Given the description of an element on the screen output the (x, y) to click on. 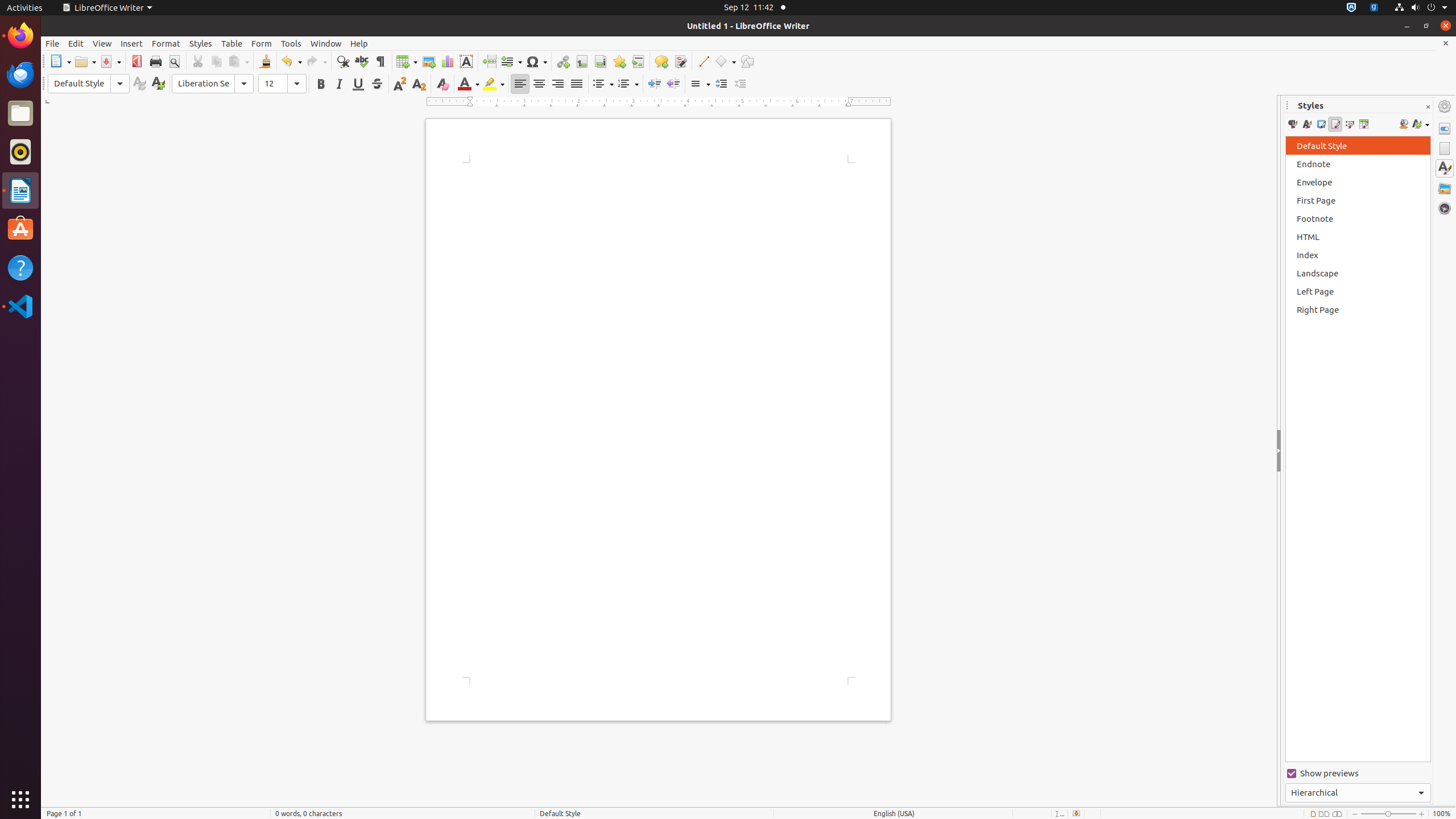
Find & Replace Element type: toggle-button (342, 61)
Navigator Element type: radio-button (1444, 208)
PDF Element type: push-button (136, 61)
Close Sidebar Deck Element type: push-button (1427, 106)
Spelling Element type: push-button (361, 61)
